Given the description of an element on the screen output the (x, y) to click on. 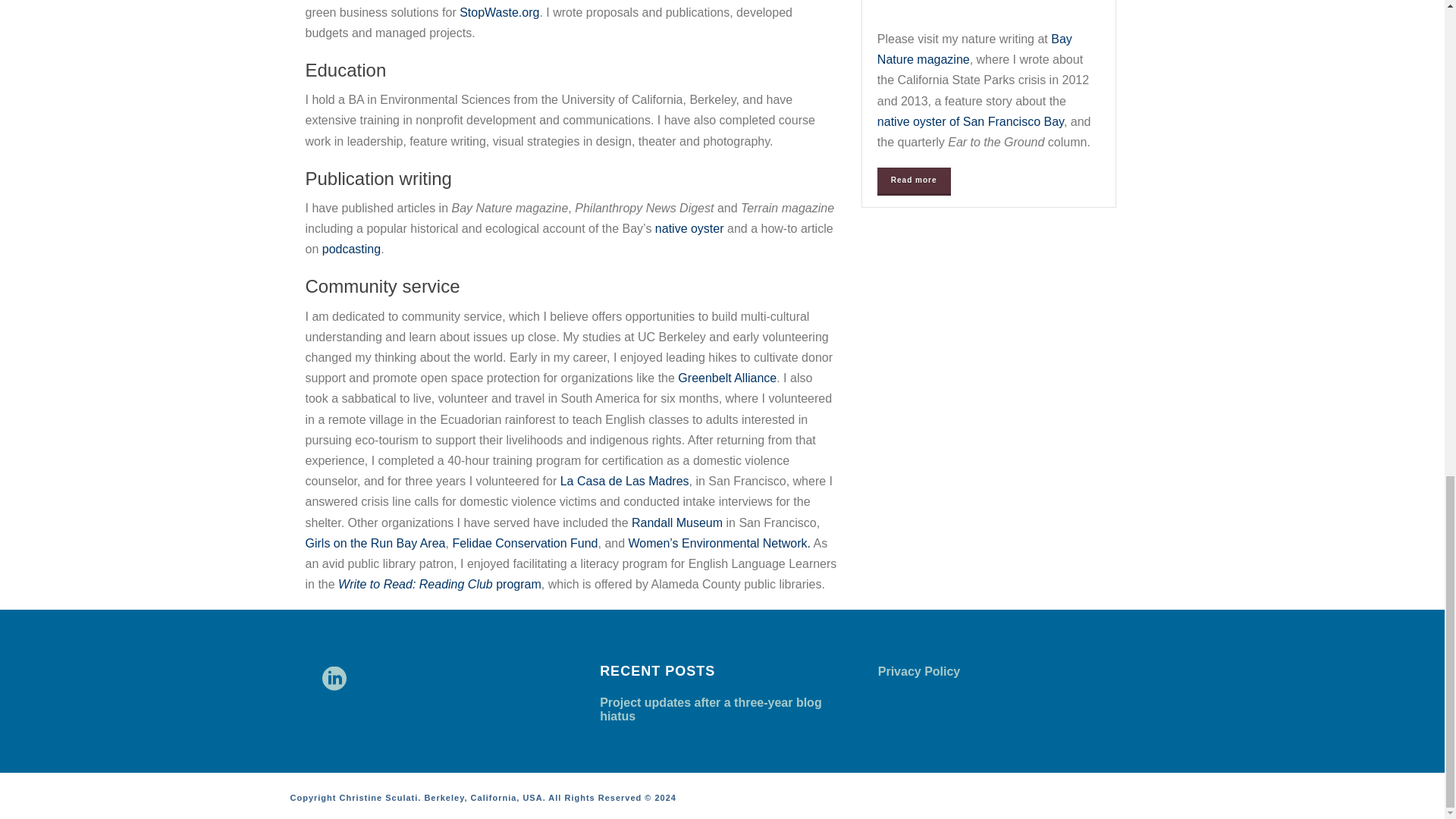
podcasting (350, 248)
Randall Museum (676, 522)
Greenbelt Alliance (727, 377)
Girls on the Run Bay Area (374, 543)
La Casa de Las Madres (624, 481)
Read more (913, 180)
native oyster (689, 228)
StopWaste.org (499, 11)
Felidae Conservation Fund (523, 543)
Read more (913, 180)
